Given the description of an element on the screen output the (x, y) to click on. 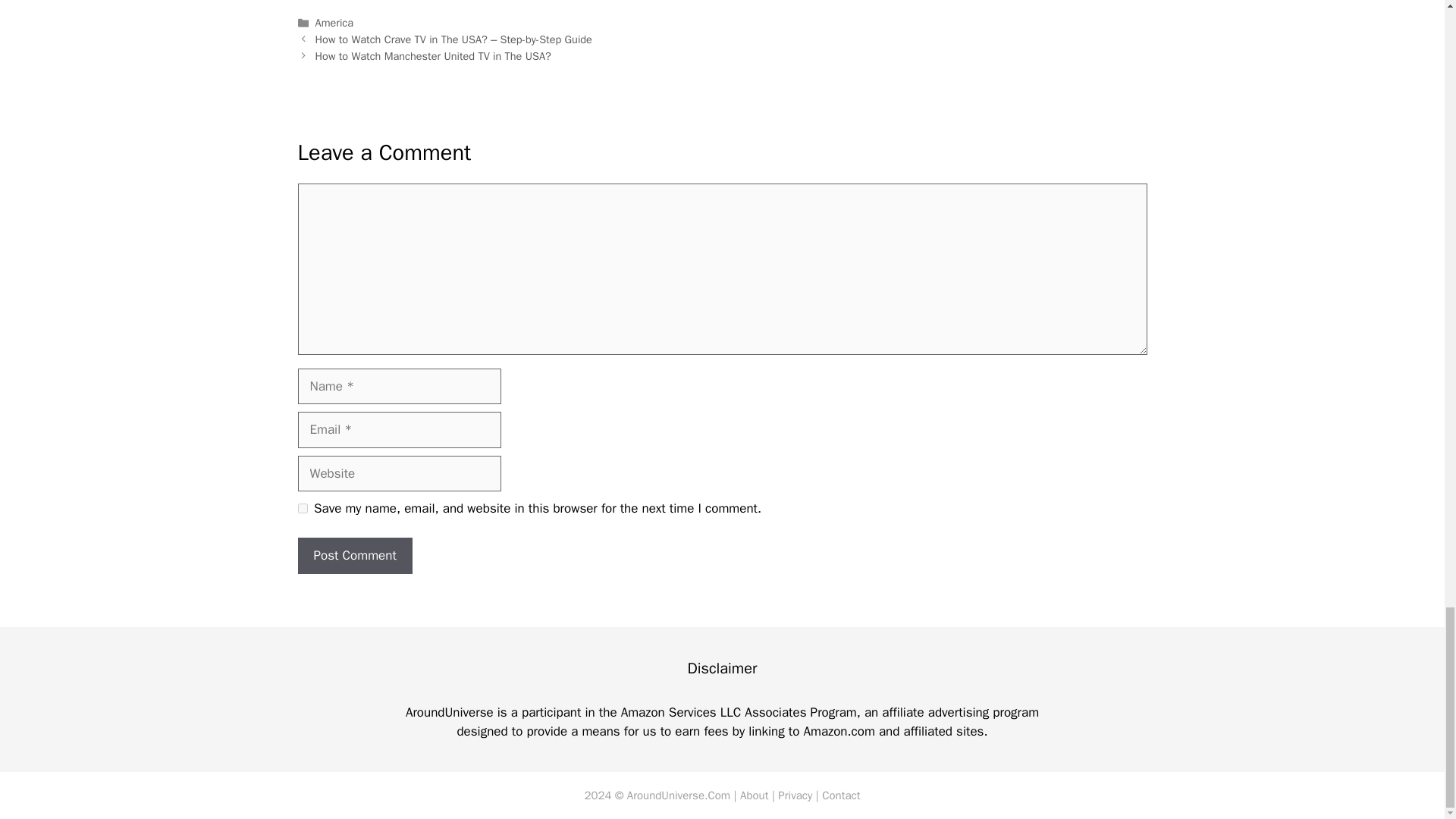
Contact (841, 795)
Privacy (794, 795)
Post Comment (354, 555)
About (753, 795)
yes (302, 508)
Post Comment (354, 555)
How to Watch Manchester United TV in The USA? (433, 56)
America (334, 22)
